Given the description of an element on the screen output the (x, y) to click on. 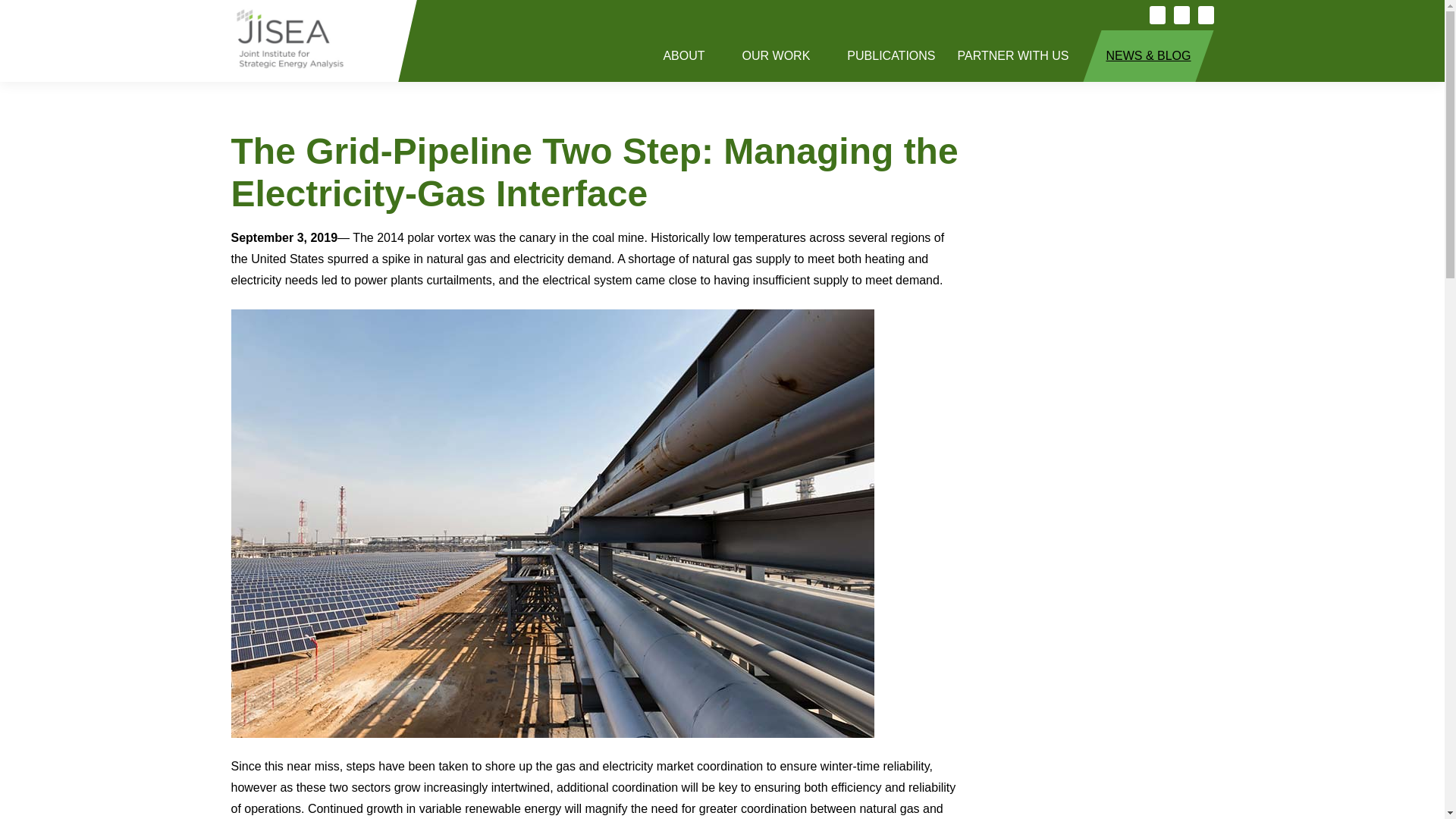
PARTNER WITH US (1020, 55)
PUBLICATIONS (891, 55)
OUR WORK (783, 55)
ABOUT (691, 55)
